Given the description of an element on the screen output the (x, y) to click on. 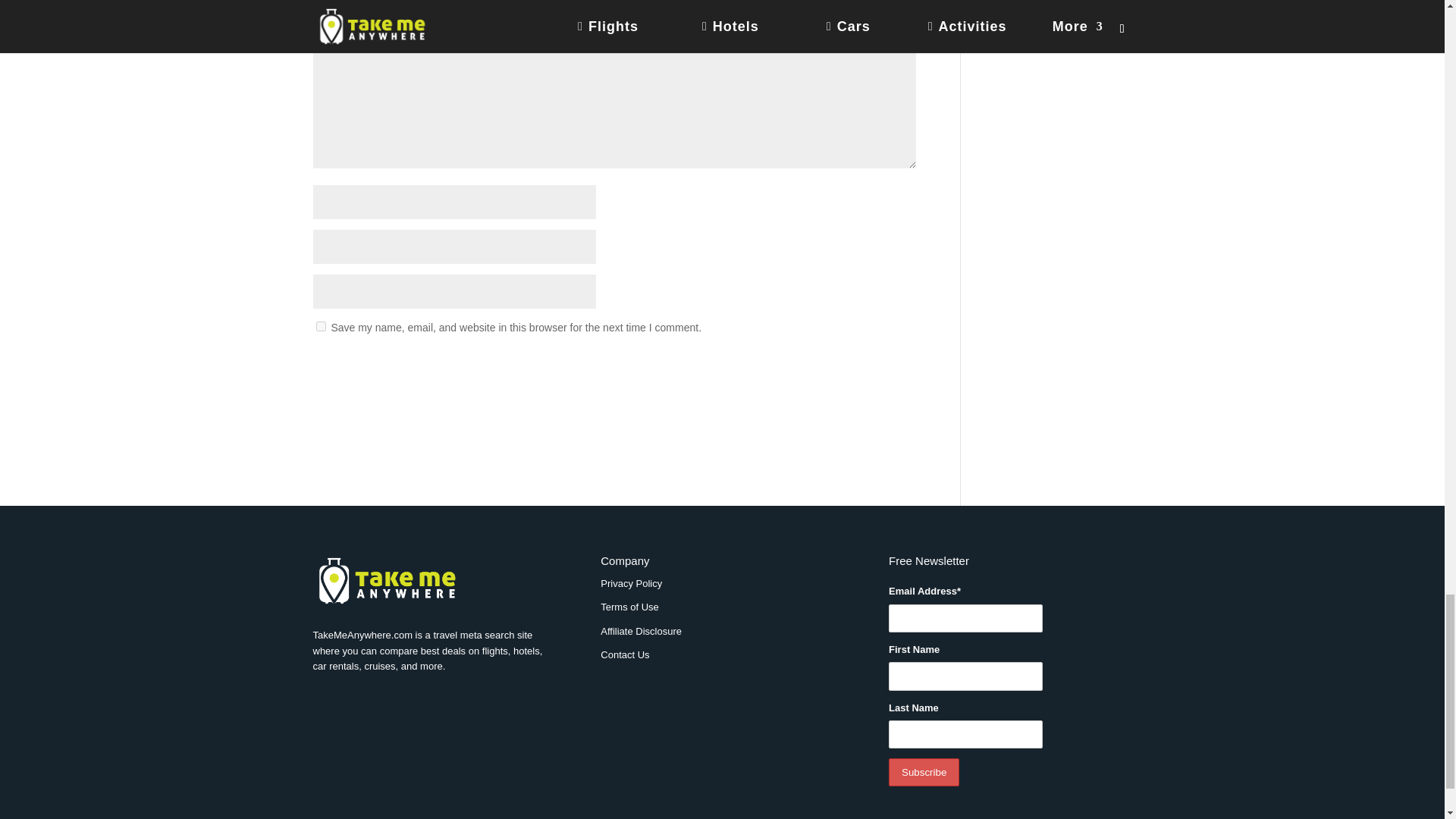
yes (319, 326)
Submit Comment (840, 366)
Submit Comment (840, 366)
Subscribe (923, 772)
